Given the description of an element on the screen output the (x, y) to click on. 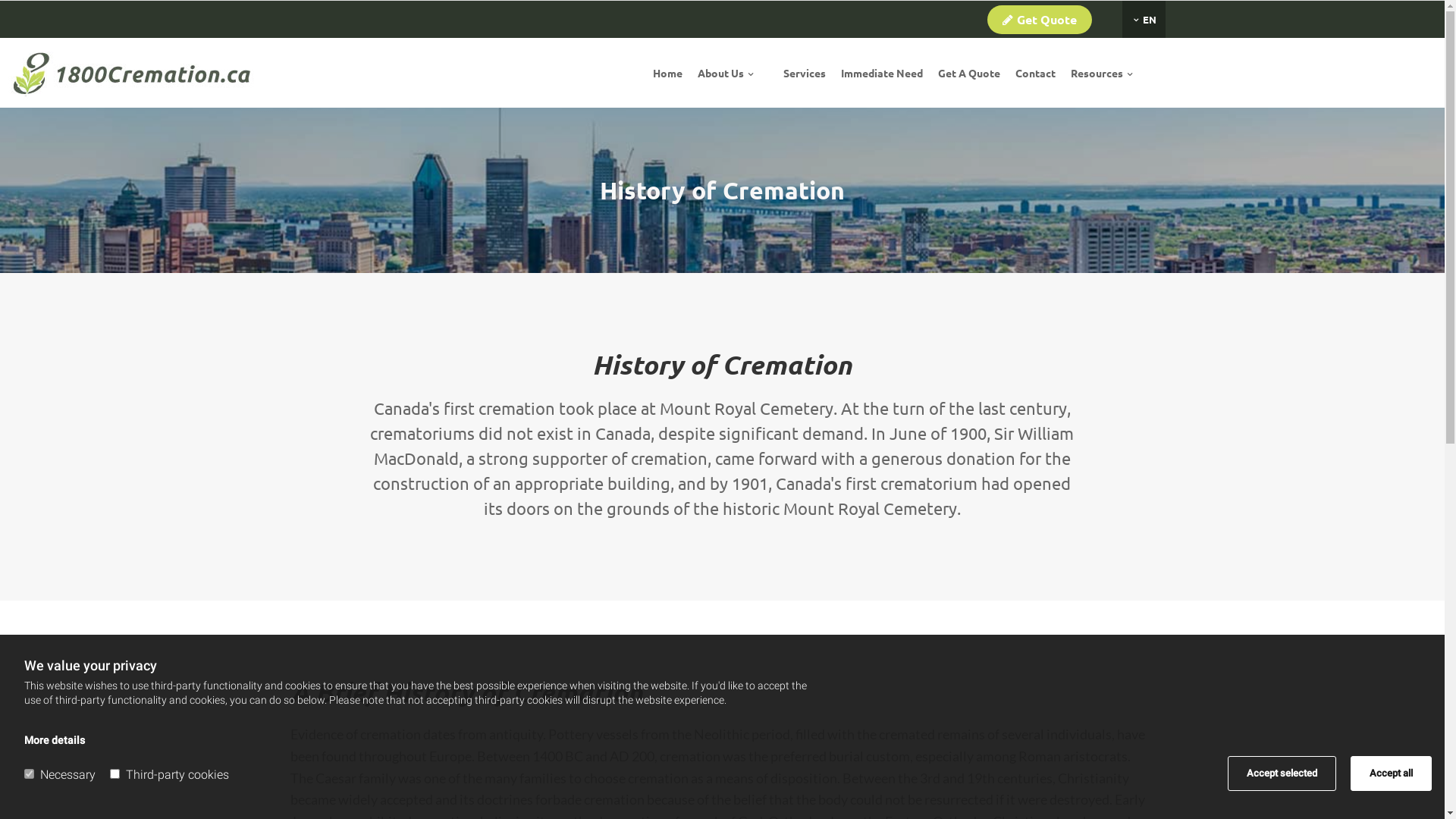
Accept selected Element type: text (1281, 773)
About Us links Element type: hover (767, 72)
EN Element type: text (1144, 18)
Services Element type: text (804, 72)
About Us Element type: text (725, 72)
Resources Element type: text (1101, 72)
Accept all Element type: text (1390, 773)
Home Element type: text (667, 72)
Get A Quote Element type: text (968, 72)
Get Quote Element type: text (1039, 18)
Contact Element type: text (1035, 72)
More details Element type: text (54, 740)
Resources links Element type: hover (1146, 72)
Immediate Need Element type: text (881, 72)
